Given the description of an element on the screen output the (x, y) to click on. 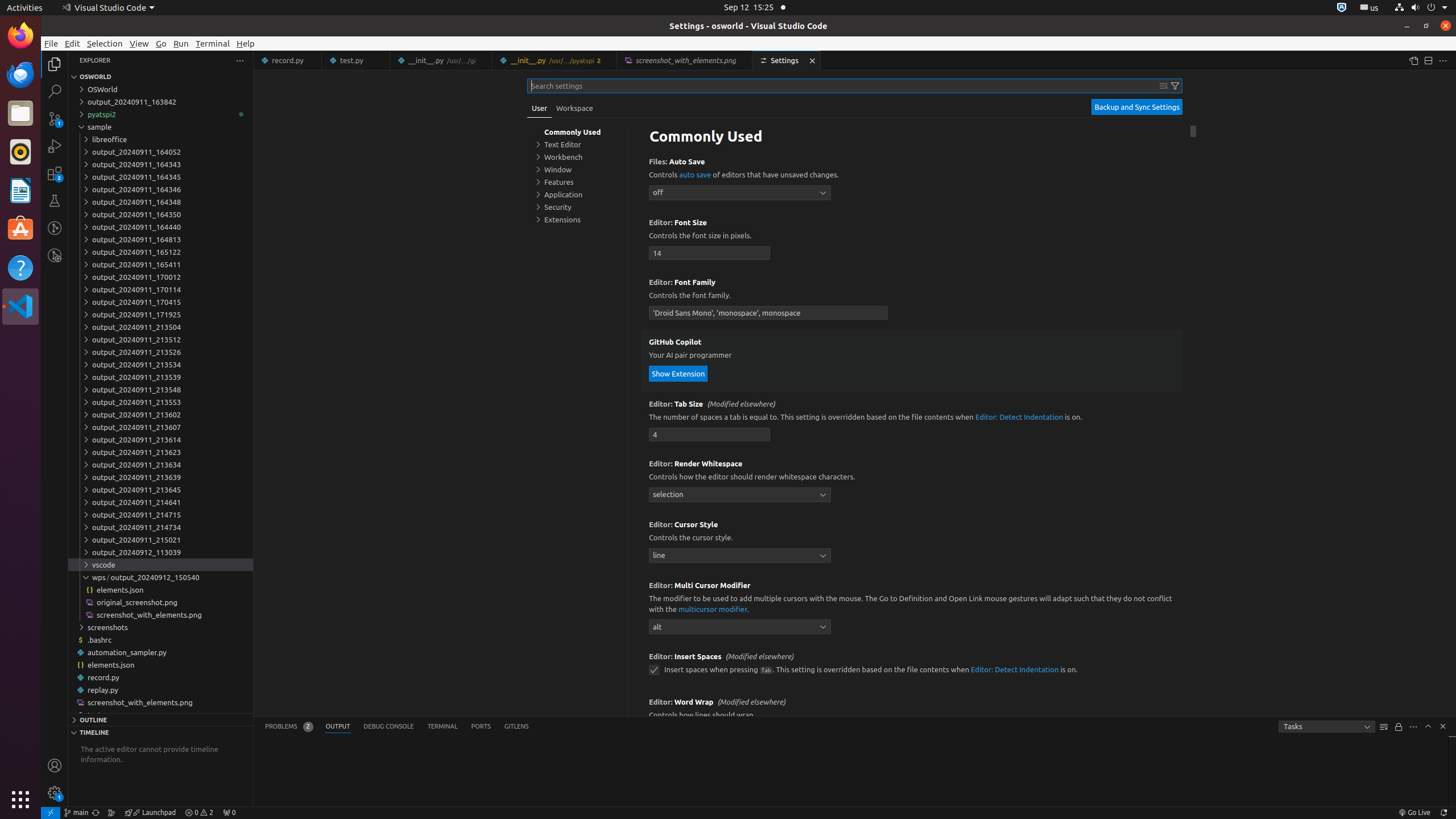
test.py Element type: tree-item (160, 714)
